Given the description of an element on the screen output the (x, y) to click on. 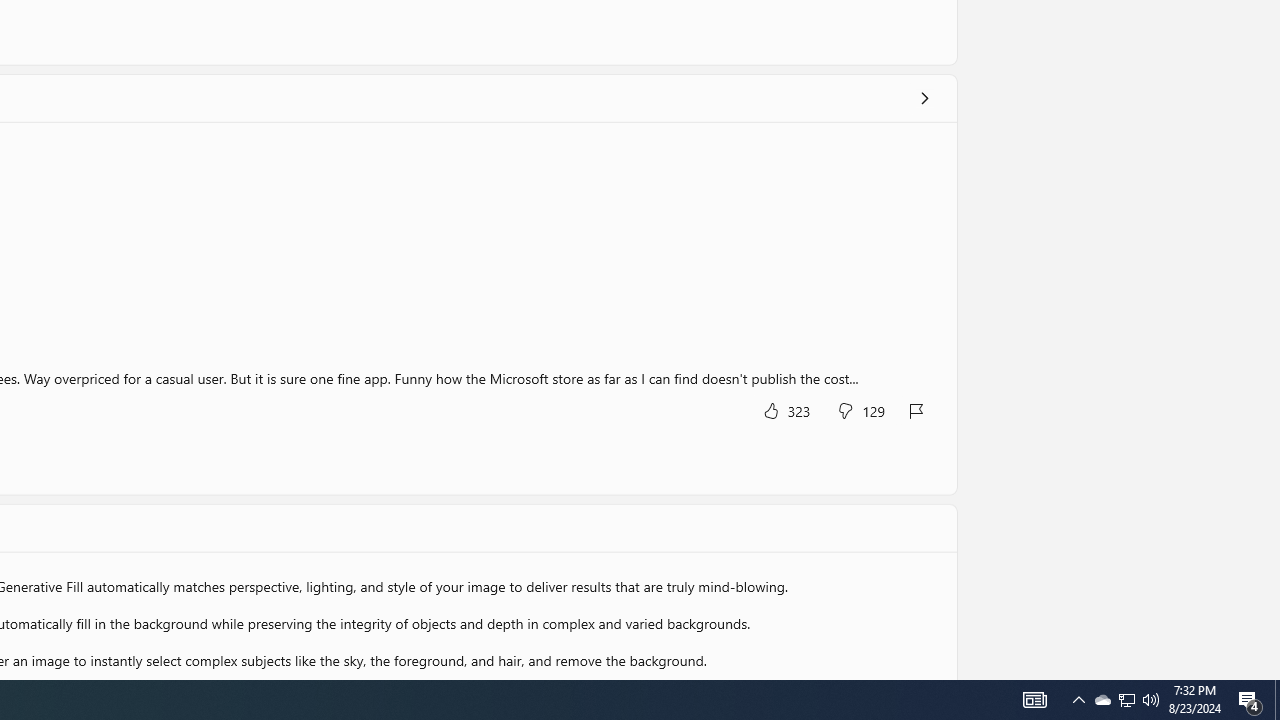
No, this was not helpful. 129 votes. (860, 410)
Show all ratings and reviews (924, 97)
Report review (917, 410)
Yes, this was helpful. 323 votes. (785, 410)
